Given the description of an element on the screen output the (x, y) to click on. 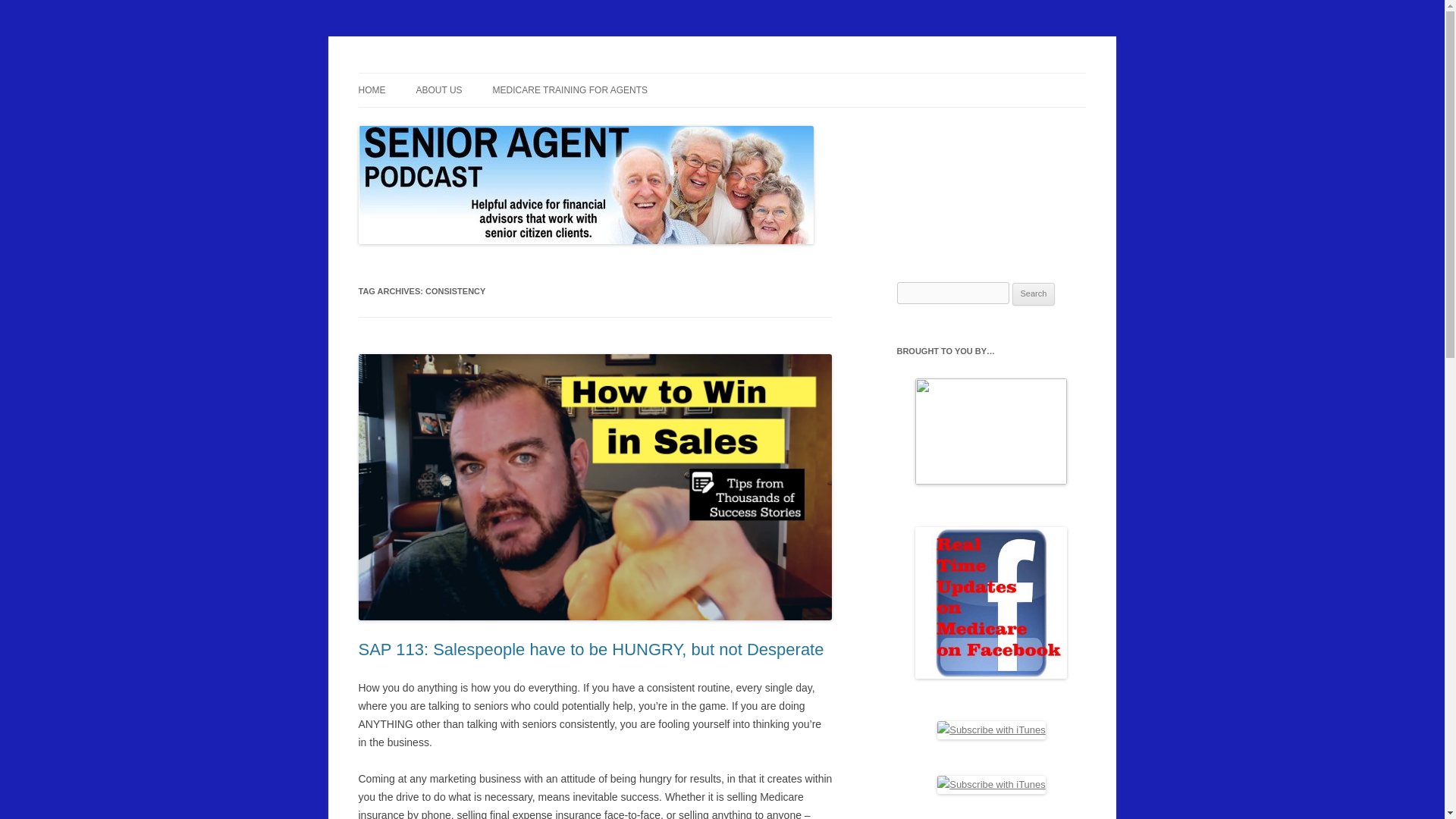
ABOUT US (437, 90)
MEDICARE TRAINING FOR AGENTS (570, 90)
Senior Agent Podcast (460, 72)
Search (1033, 293)
SAP 113: Salespeople have to be HUNGRY, but not Desperate (591, 649)
